Given the description of an element on the screen output the (x, y) to click on. 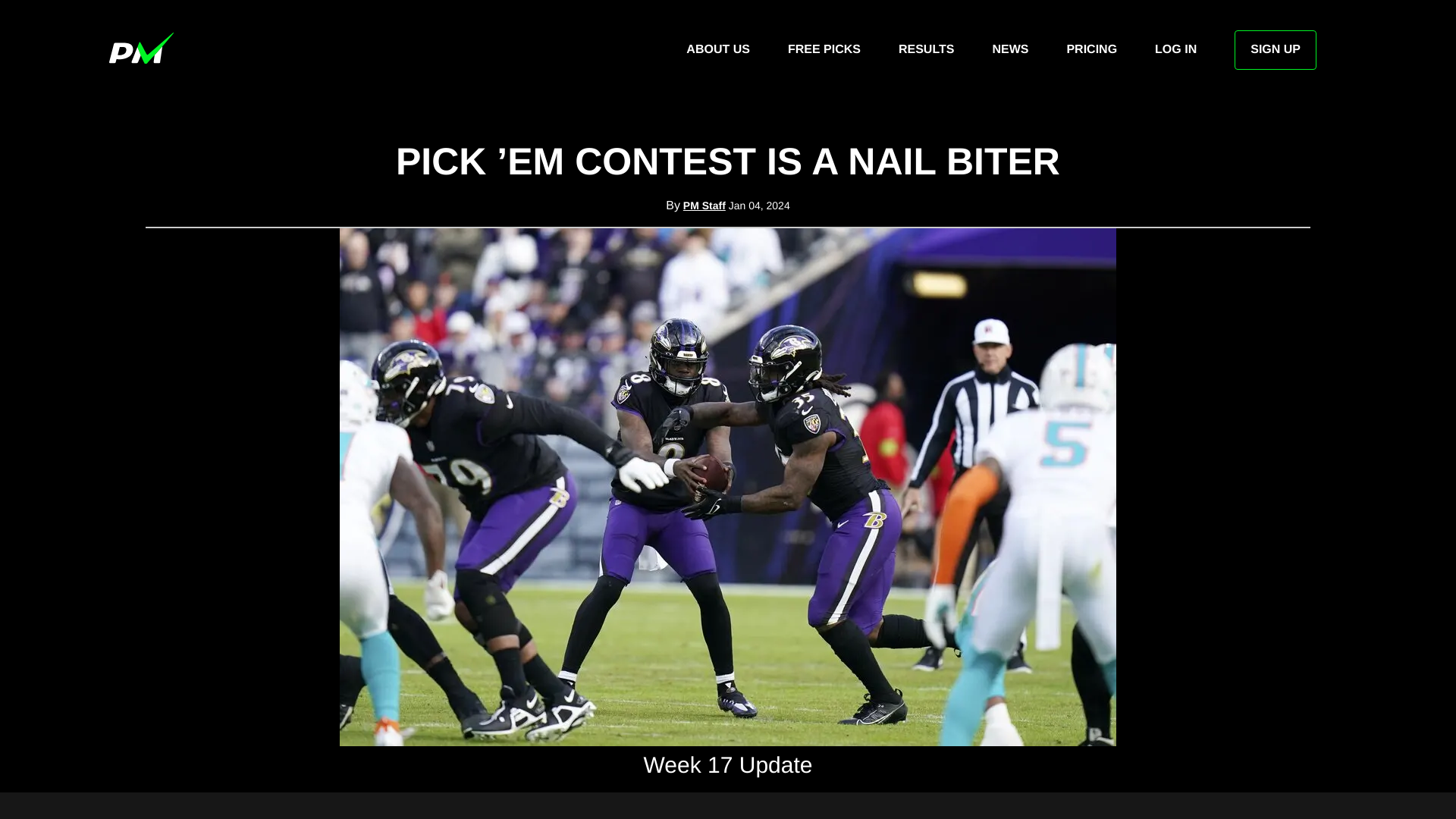
LOG IN (1175, 49)
ABOUT US (717, 49)
January 4, 2024 (759, 205)
RESULTS (925, 49)
PM Staff (703, 205)
SIGN UP (1275, 49)
FREE PICKS (823, 49)
NEWS (1009, 49)
PRICING (1090, 49)
